Given the description of an element on the screen output the (x, y) to click on. 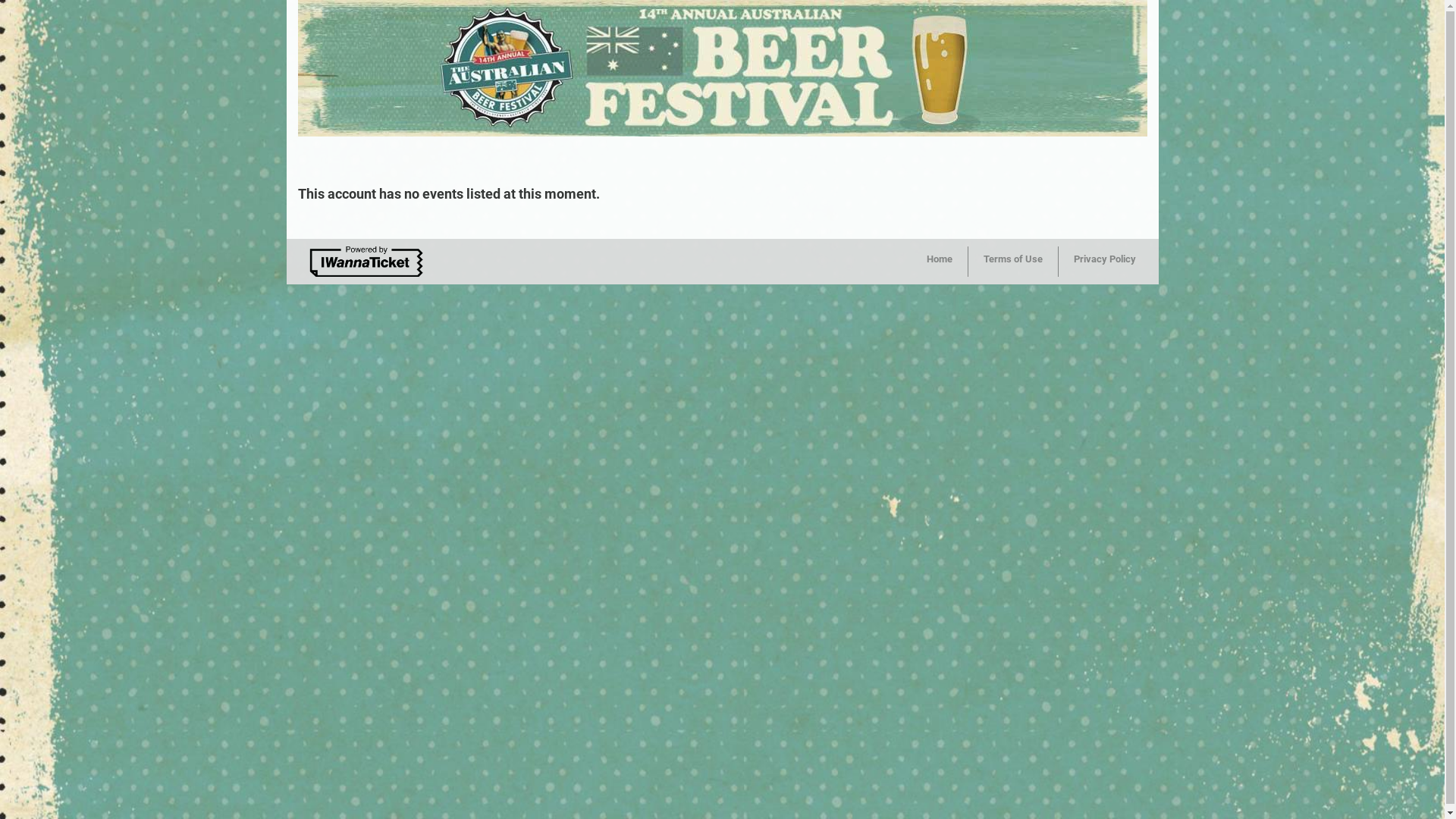
Privacy Policy Element type: text (1104, 261)
Terms of Use Element type: text (1012, 261)
Home Element type: text (939, 261)
